Given the description of an element on the screen output the (x, y) to click on. 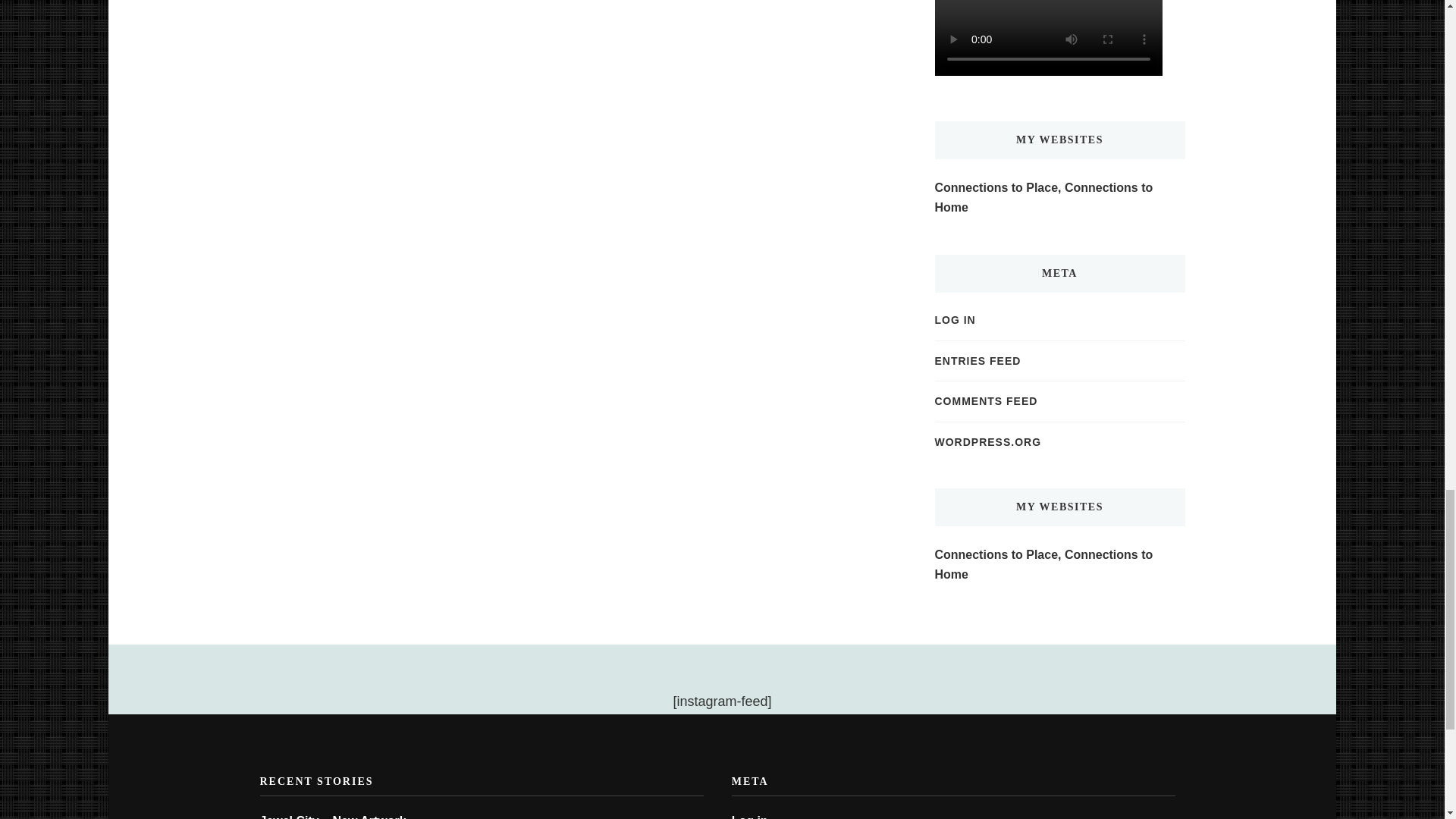
One-of-a-kind UK and Toronto artwork connecting us to Home (1059, 197)
